Given the description of an element on the screen output the (x, y) to click on. 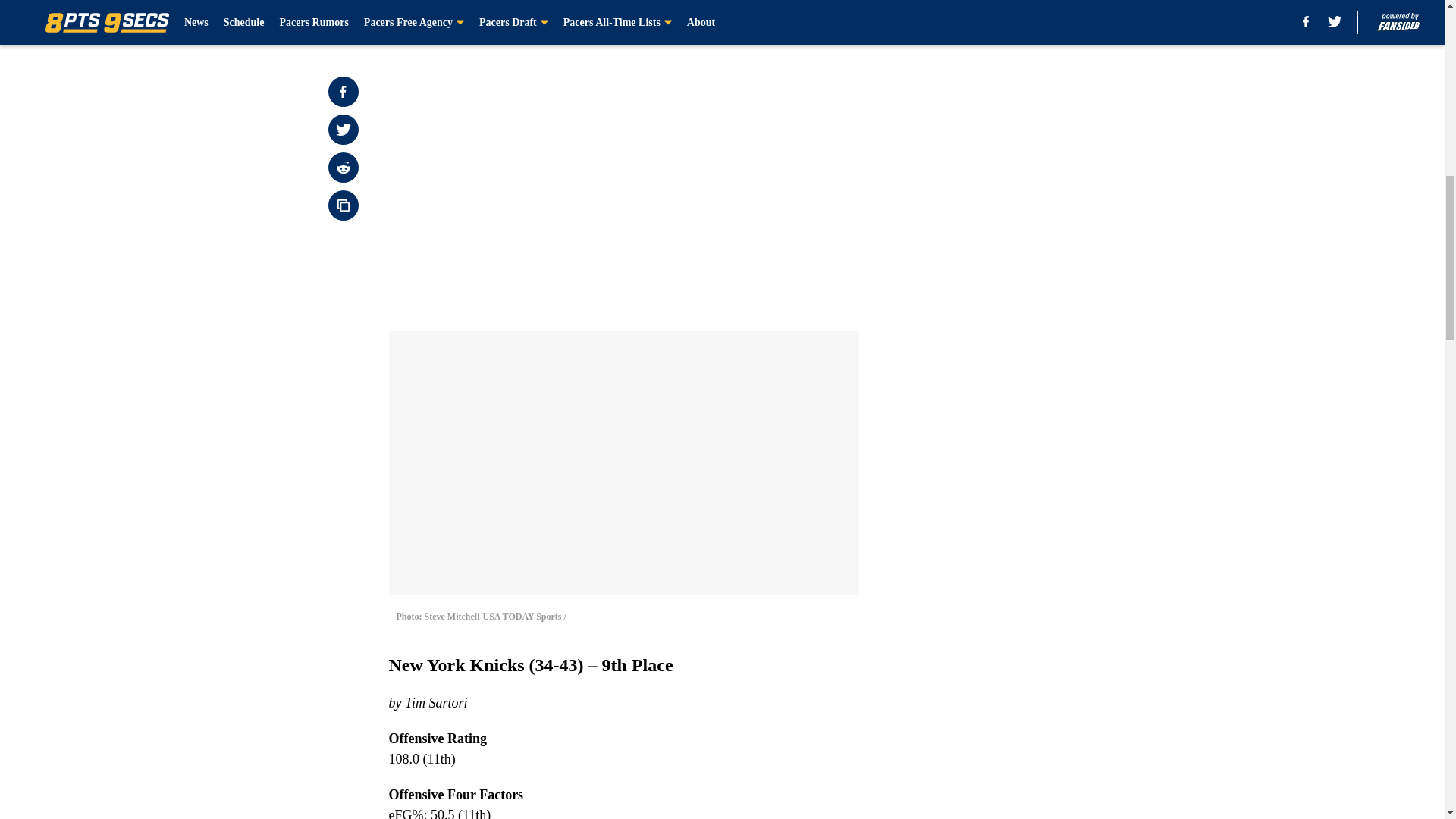
Prev (433, 20)
Next (813, 20)
